Given the description of an element on the screen output the (x, y) to click on. 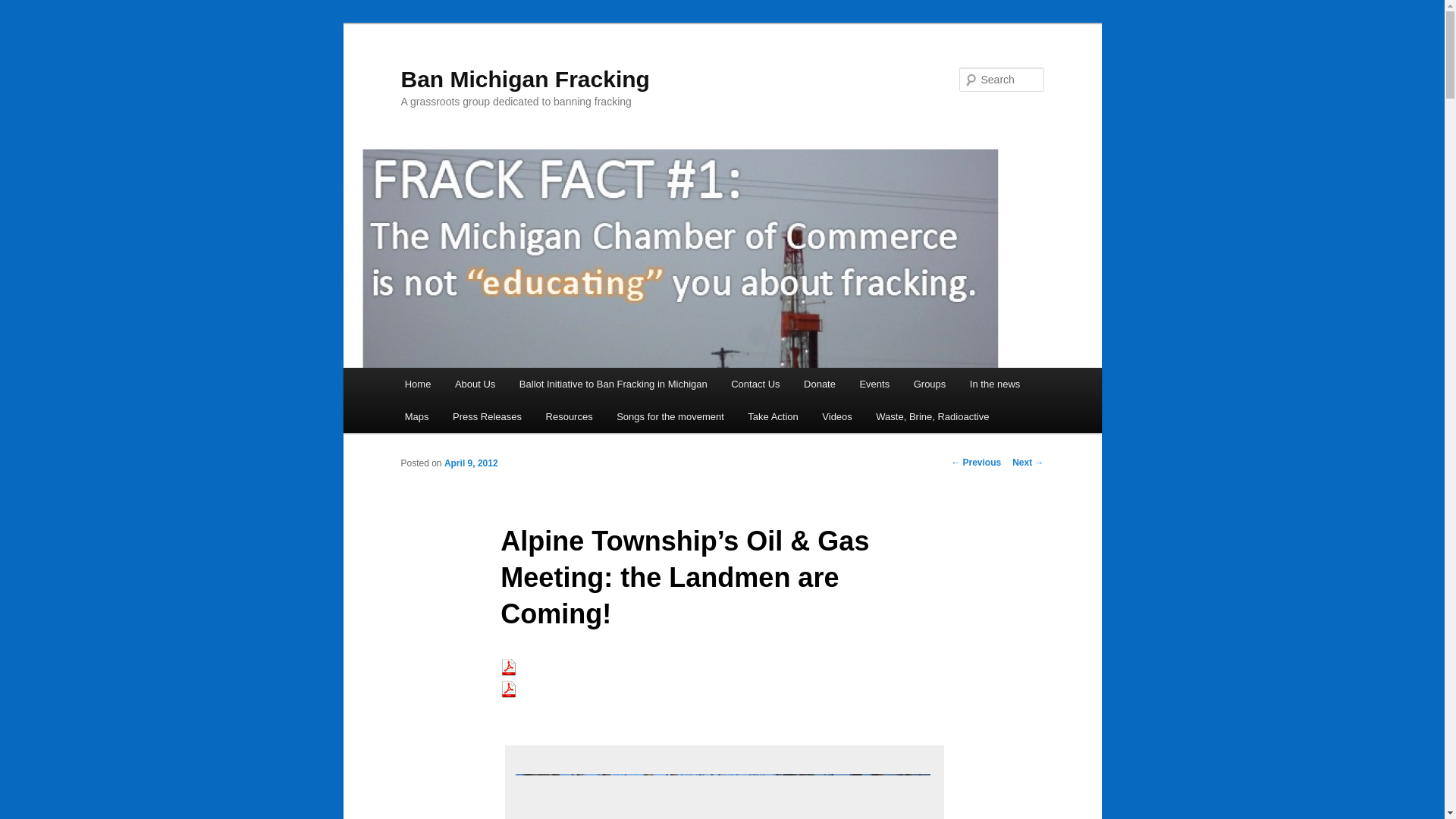
Resources (569, 416)
Maps (417, 416)
Download PDF (508, 671)
Home (417, 383)
Events (874, 383)
Press Releases (487, 416)
Ballot Initiative to Ban Fracking in Michigan (612, 383)
Contact Us (755, 383)
In the news (995, 383)
Waste, Brine, Radioactive (932, 416)
1:05 pm (470, 462)
Take Action (773, 416)
Videos (837, 416)
Songs for the movement (669, 416)
Search (24, 8)
